Given the description of an element on the screen output the (x, y) to click on. 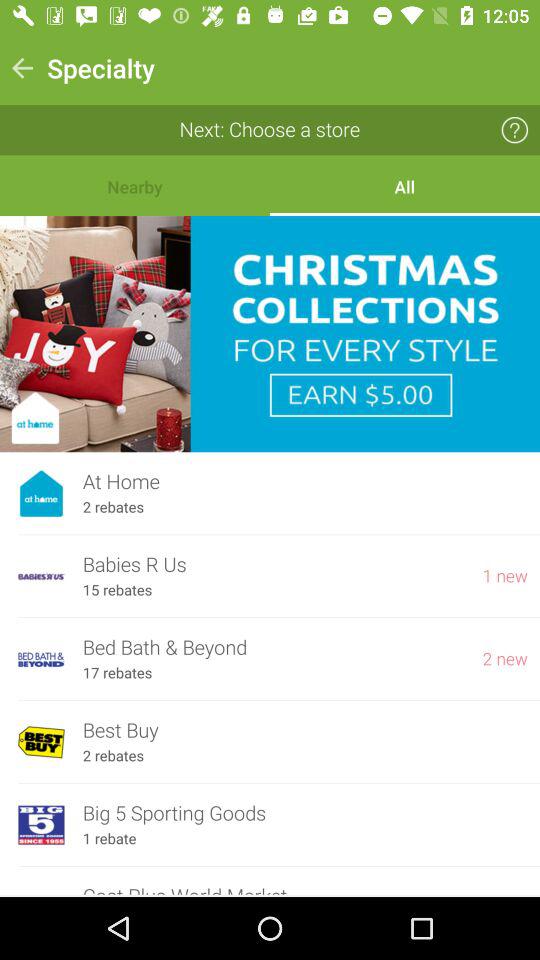
launch icon below the 17 rebates item (305, 730)
